Given the description of an element on the screen output the (x, y) to click on. 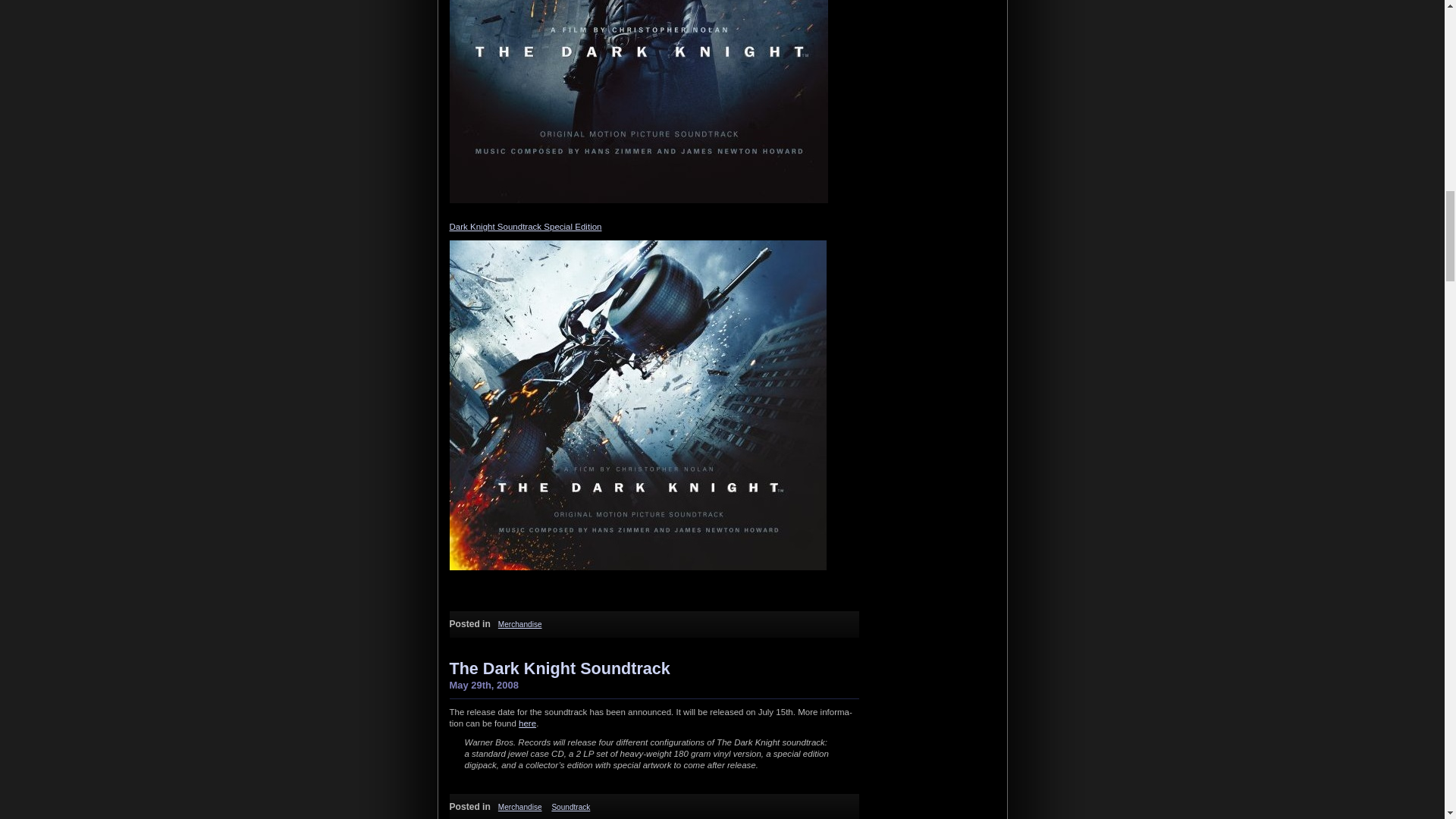
The Dark Knight Soundtrack (558, 668)
Merchandise (519, 623)
here (526, 723)
Merchandise (519, 807)
